Given the description of an element on the screen output the (x, y) to click on. 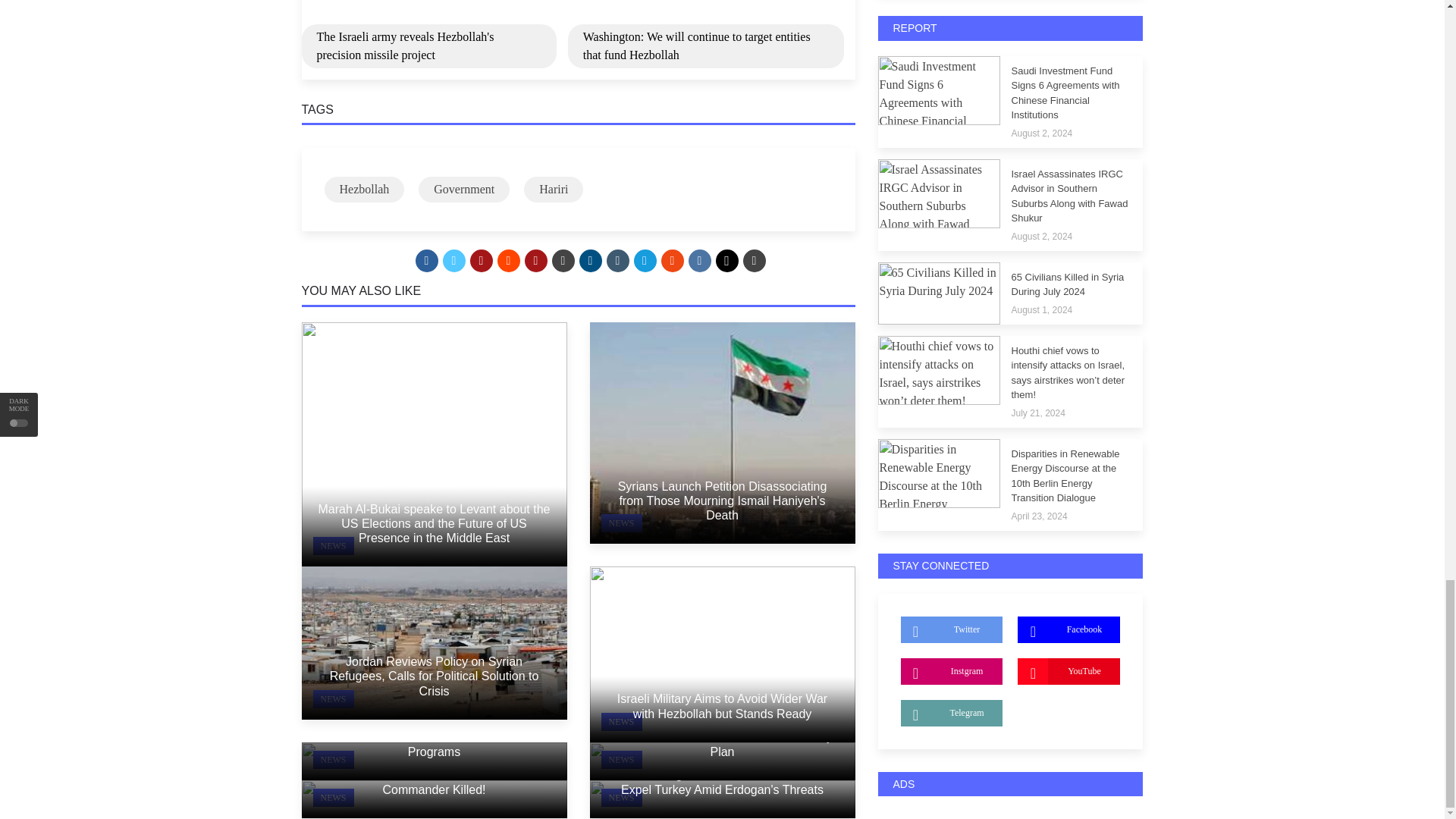
Government (464, 189)
Hariri (553, 189)
Hezbollah (364, 189)
